Given the description of an element on the screen output the (x, y) to click on. 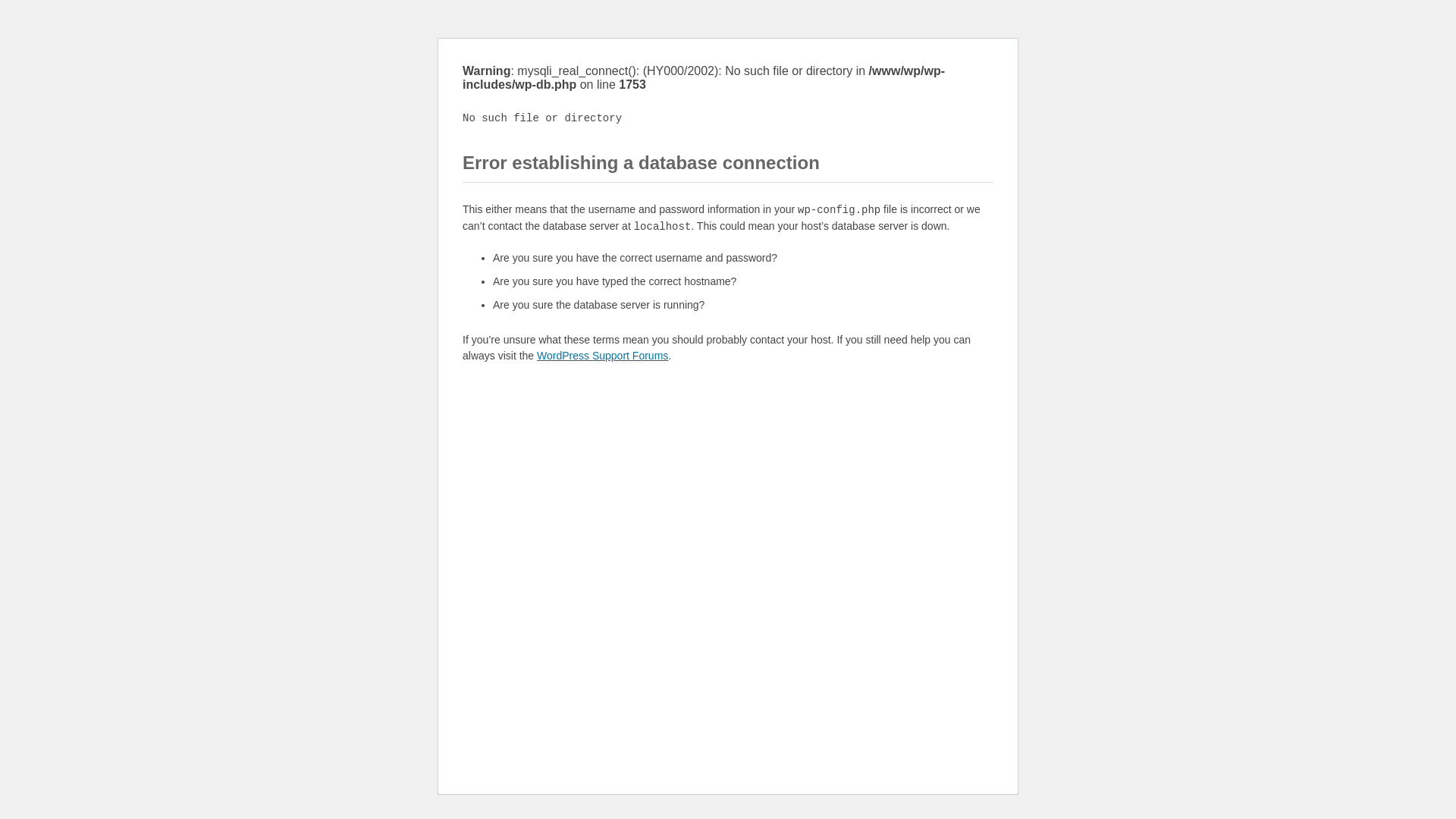
WordPress Support Forums Element type: text (602, 355)
